Given the description of an element on the screen output the (x, y) to click on. 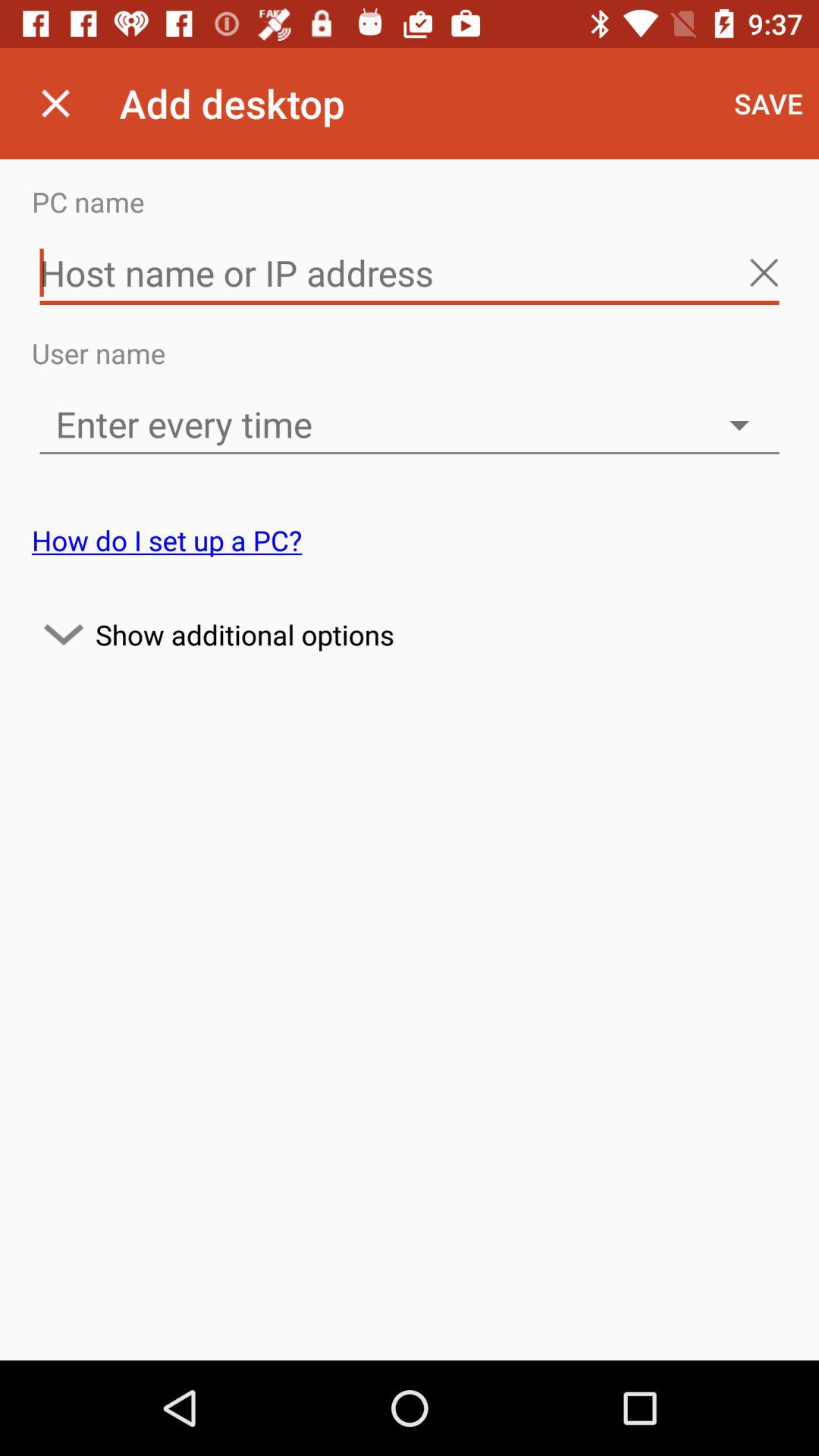
tap icon next to the add desktop (768, 103)
